Given the description of an element on the screen output the (x, y) to click on. 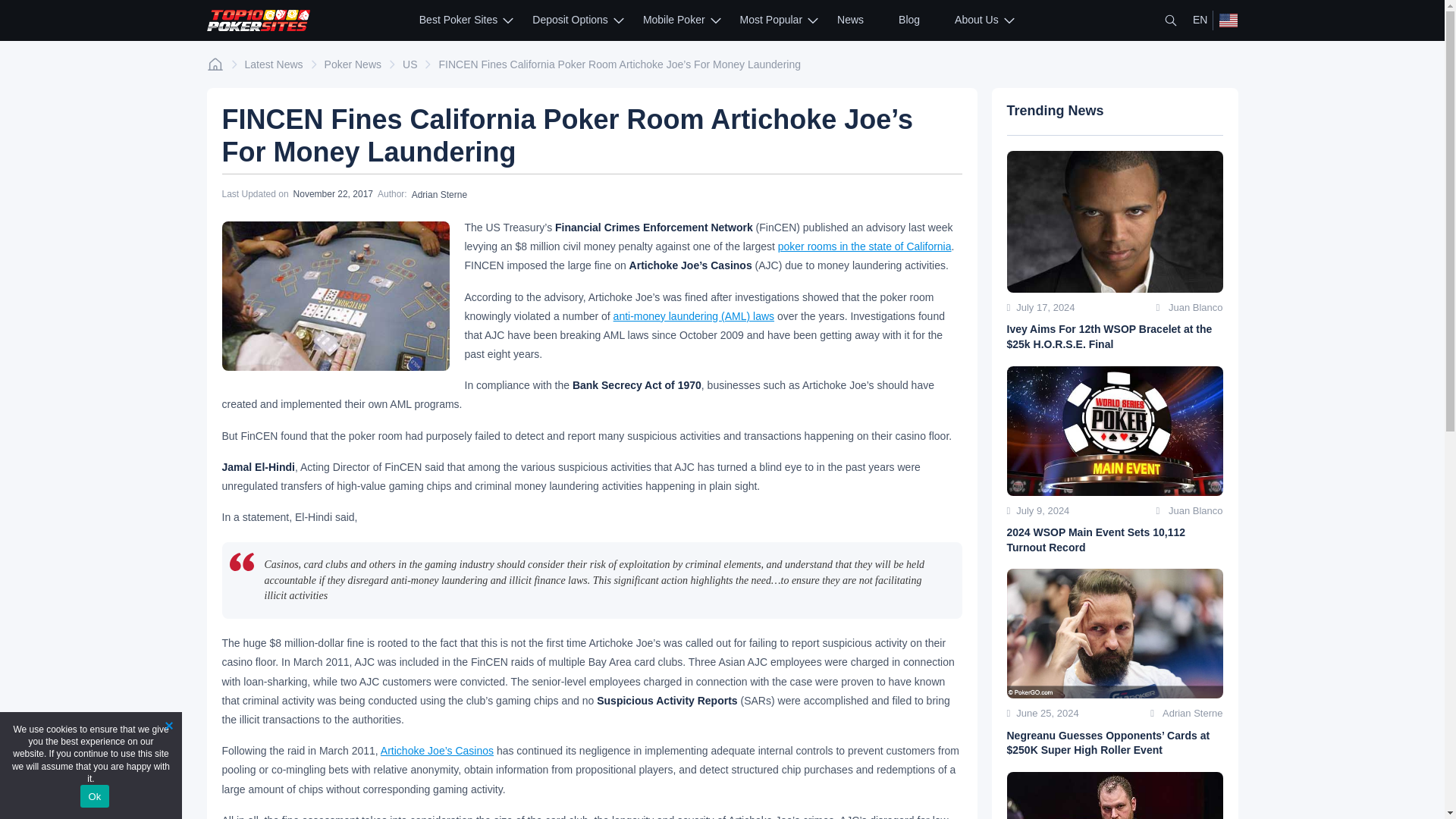
View all posts in Poker News (352, 64)
View all posts in US (409, 64)
Mobile Poker (673, 19)
Best Poker Sites (458, 19)
Most Popular (770, 19)
Deposit Options (570, 19)
Home (214, 64)
Latest News (273, 64)
